Given the description of an element on the screen output the (x, y) to click on. 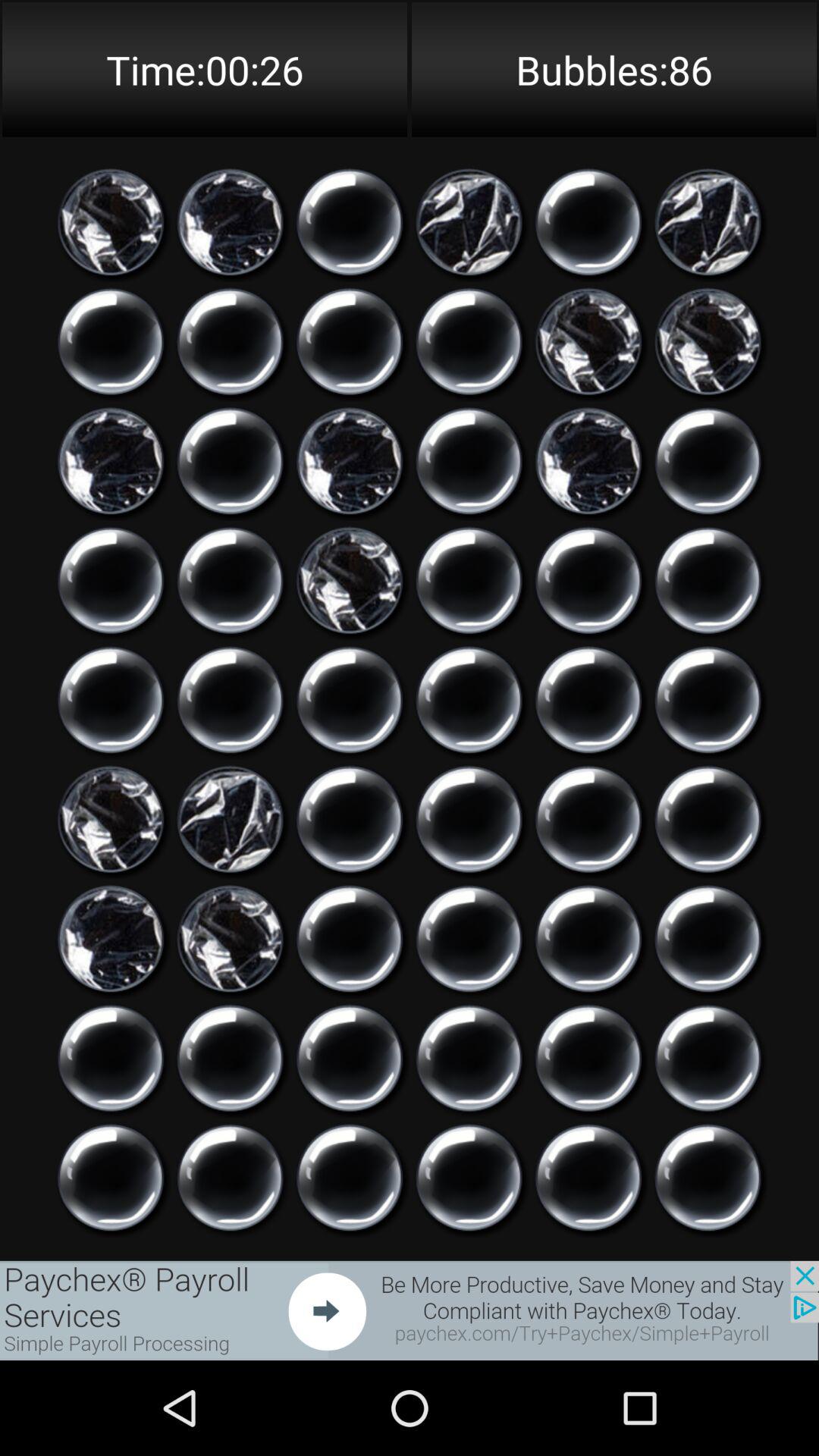
pop bubble (349, 1058)
